Given the description of an element on the screen output the (x, y) to click on. 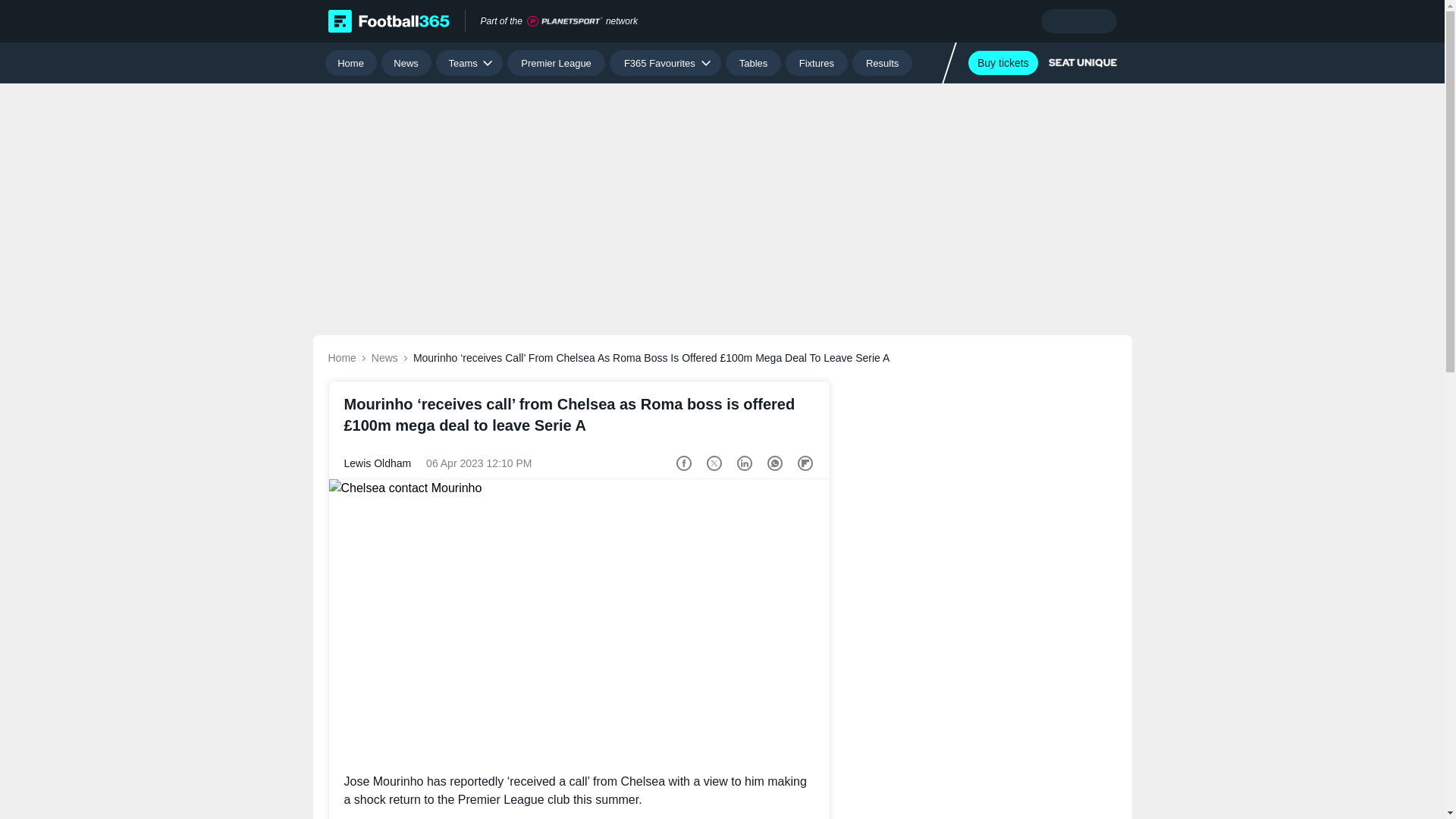
Tables (752, 62)
Results (881, 62)
News (405, 62)
Buy tickets (1003, 62)
Home (349, 62)
Premier League (555, 62)
Fixtures (817, 62)
Teams (468, 62)
F365 Favourites (665, 62)
